Given the description of an element on the screen output the (x, y) to click on. 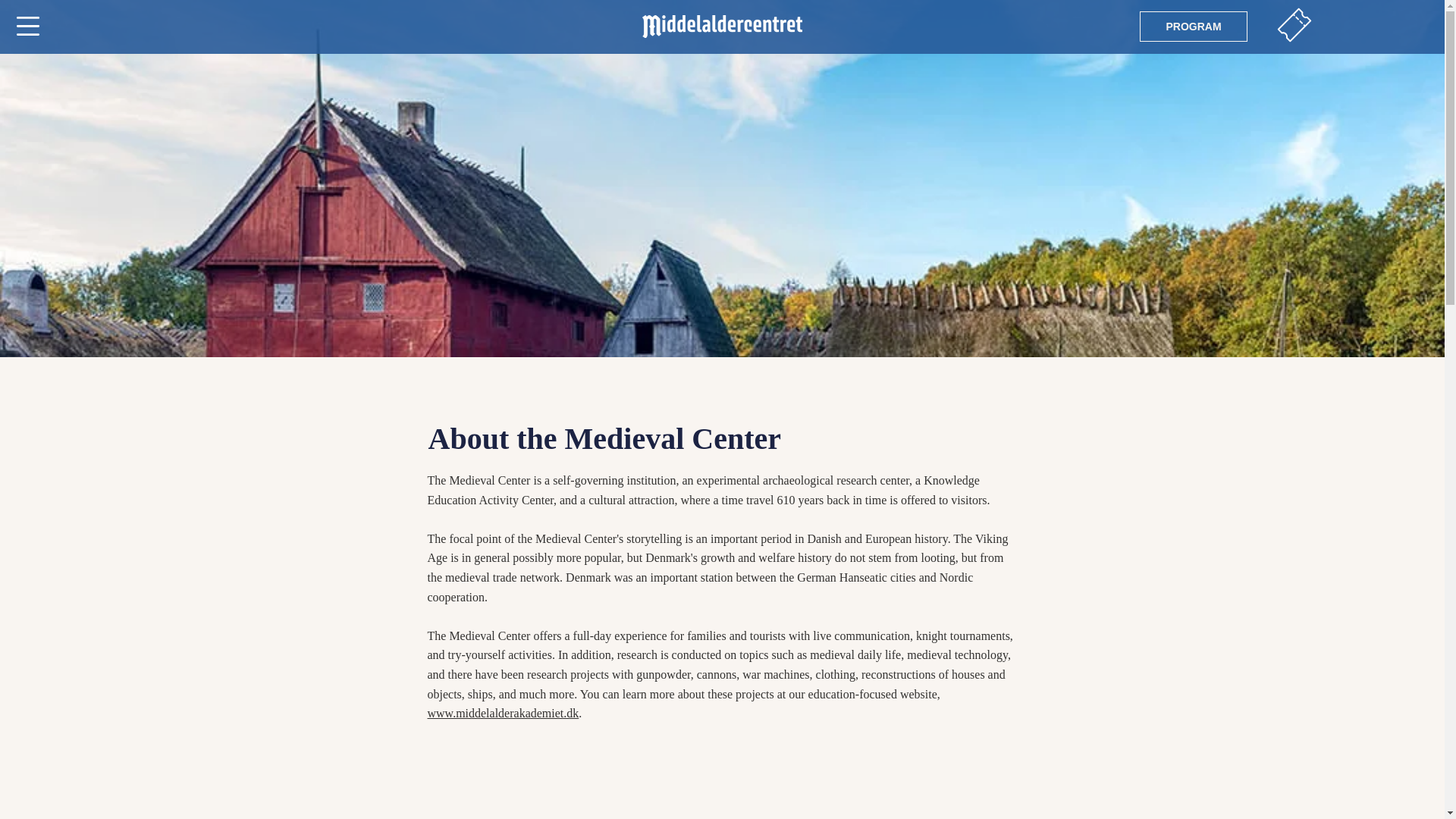
www.middelalderakademiet.dk (503, 712)
PROGRAM (1193, 26)
Middelaldercentret (722, 26)
